Given the description of an element on the screen output the (x, y) to click on. 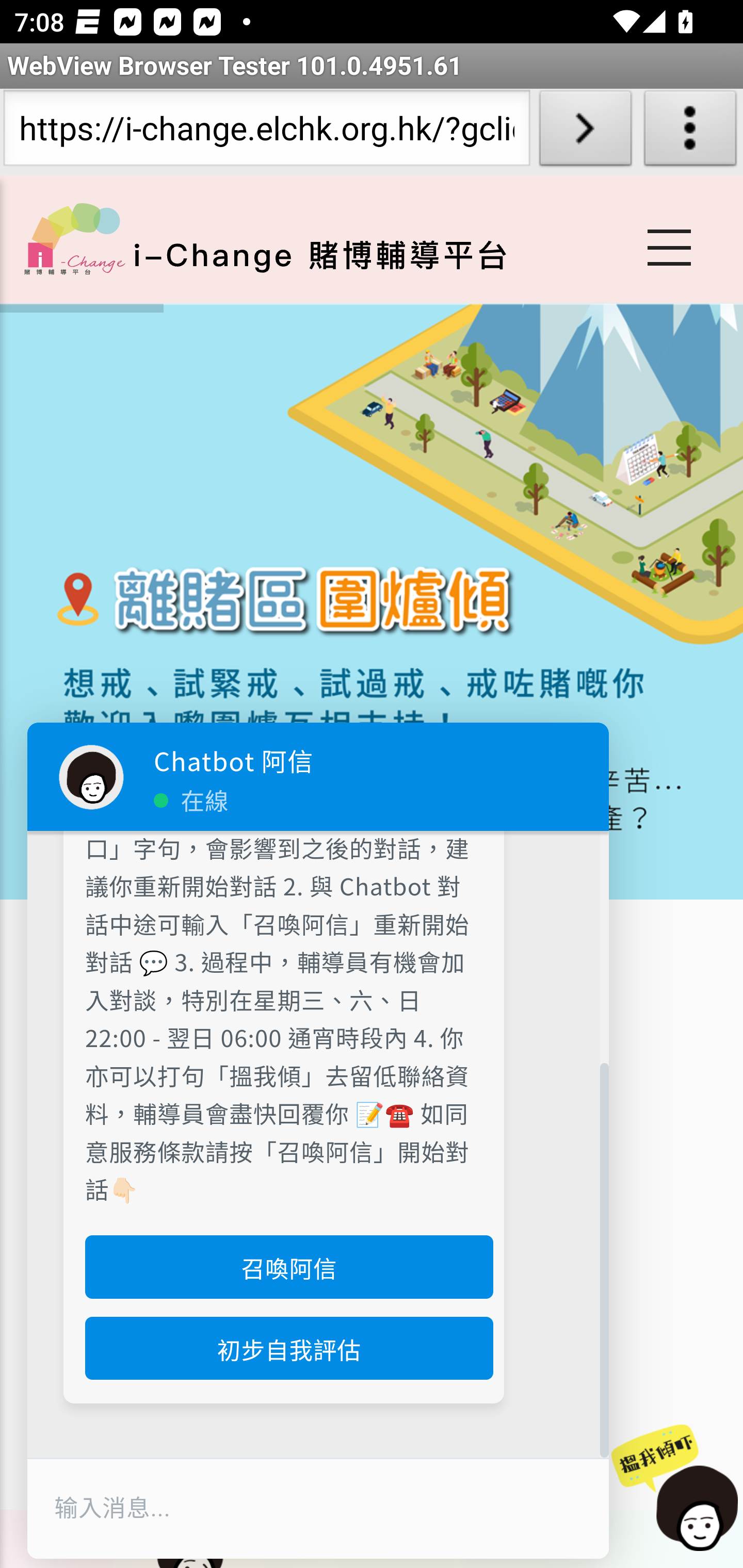
Load URL (585, 132)
About WebView (690, 132)
Home (74, 238)
Chat Now (676, 1488)
